Given the description of an element on the screen output the (x, y) to click on. 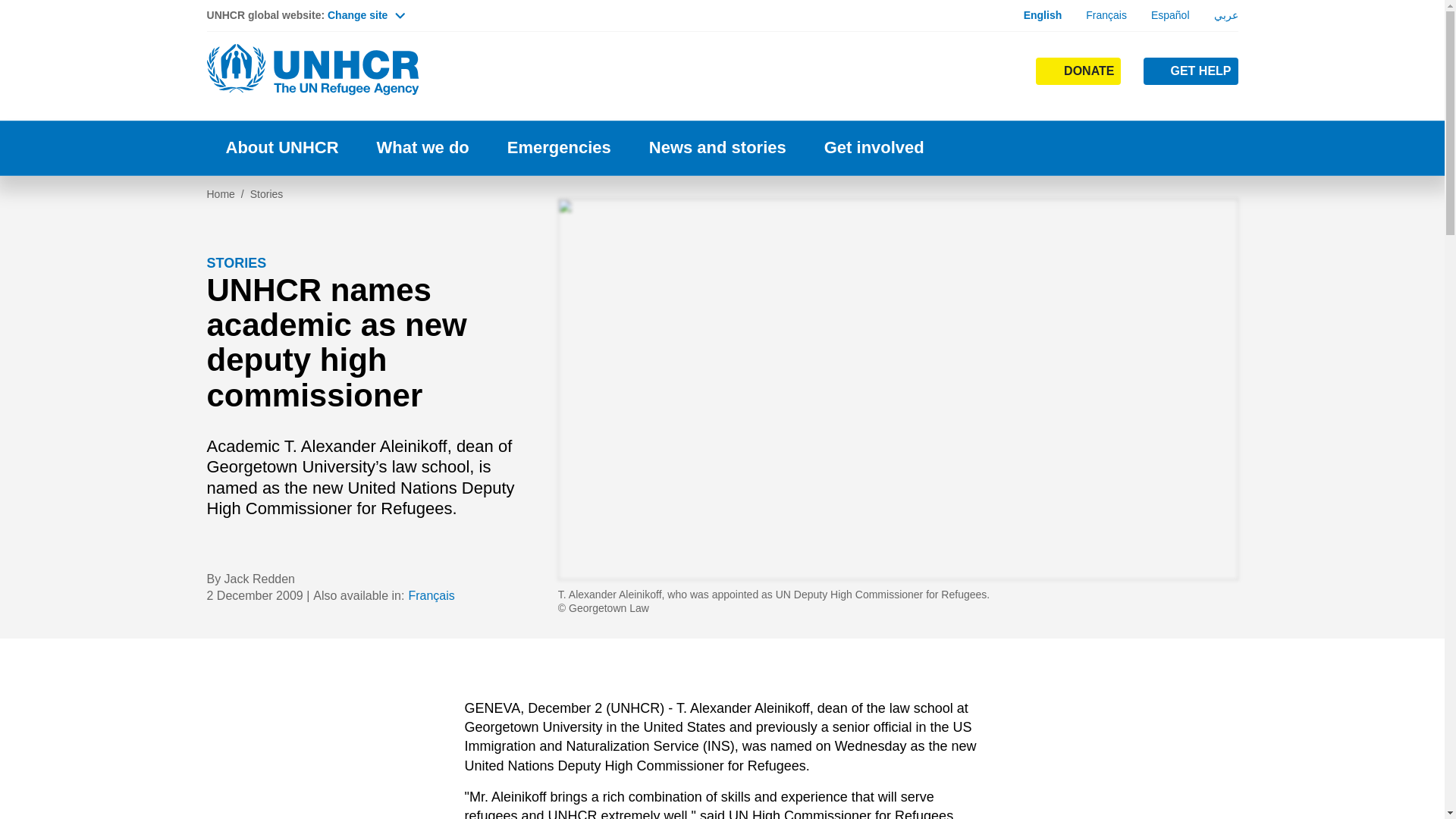
GET HELP (1189, 71)
English (1042, 15)
Home (312, 69)
Search (954, 99)
Sites (1000, 69)
About UNHCR (281, 148)
Search (952, 69)
DONATE (1078, 71)
Skip to main content (721, 1)
Change site (365, 15)
